Given the description of an element on the screen output the (x, y) to click on. 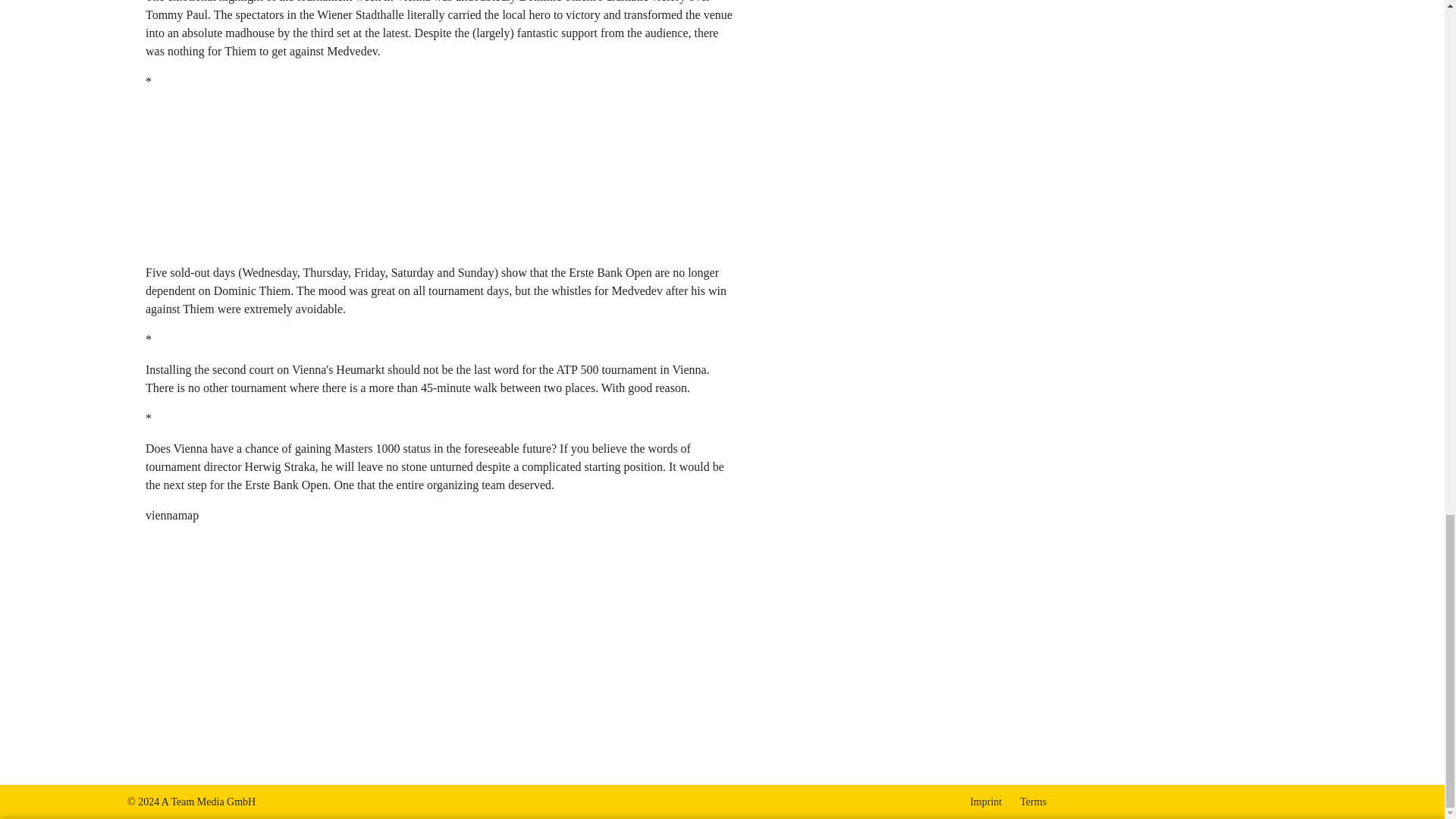
Terms (1033, 801)
Imprint (985, 801)
